Given the description of an element on the screen output the (x, y) to click on. 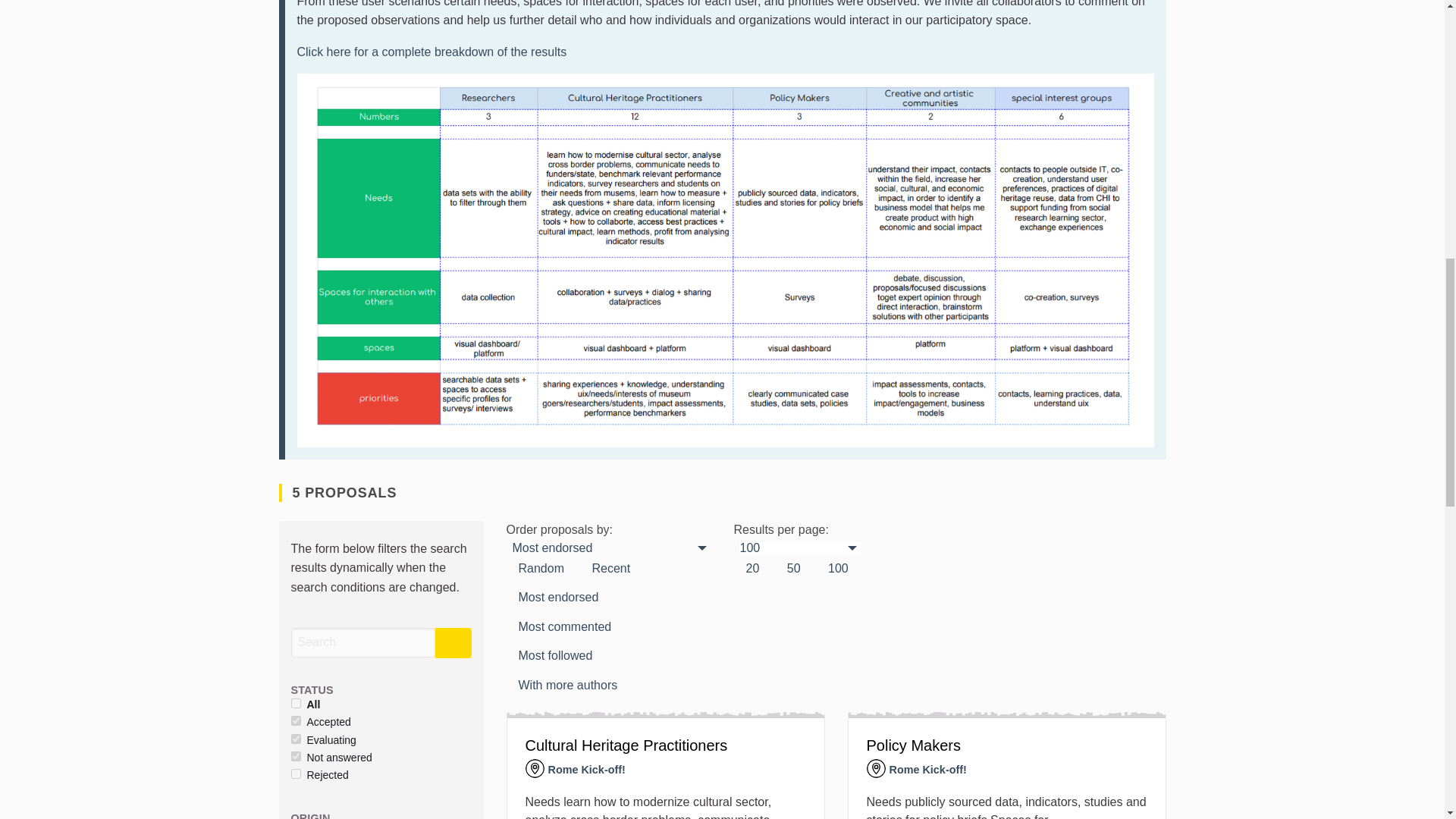
Order proposals by: (541, 568)
100 (799, 548)
Random (541, 568)
Most followed (555, 655)
Search (363, 642)
Order proposals by: (555, 655)
Order proposals by: (610, 568)
evaluating (296, 738)
100 (837, 568)
Click here for a complete breakdown of the results (432, 51)
Select number of results per page (793, 568)
Most endorsed (611, 548)
Most endorsed (558, 597)
Select number of results per page (752, 568)
20 (752, 568)
